Given the description of an element on the screen output the (x, y) to click on. 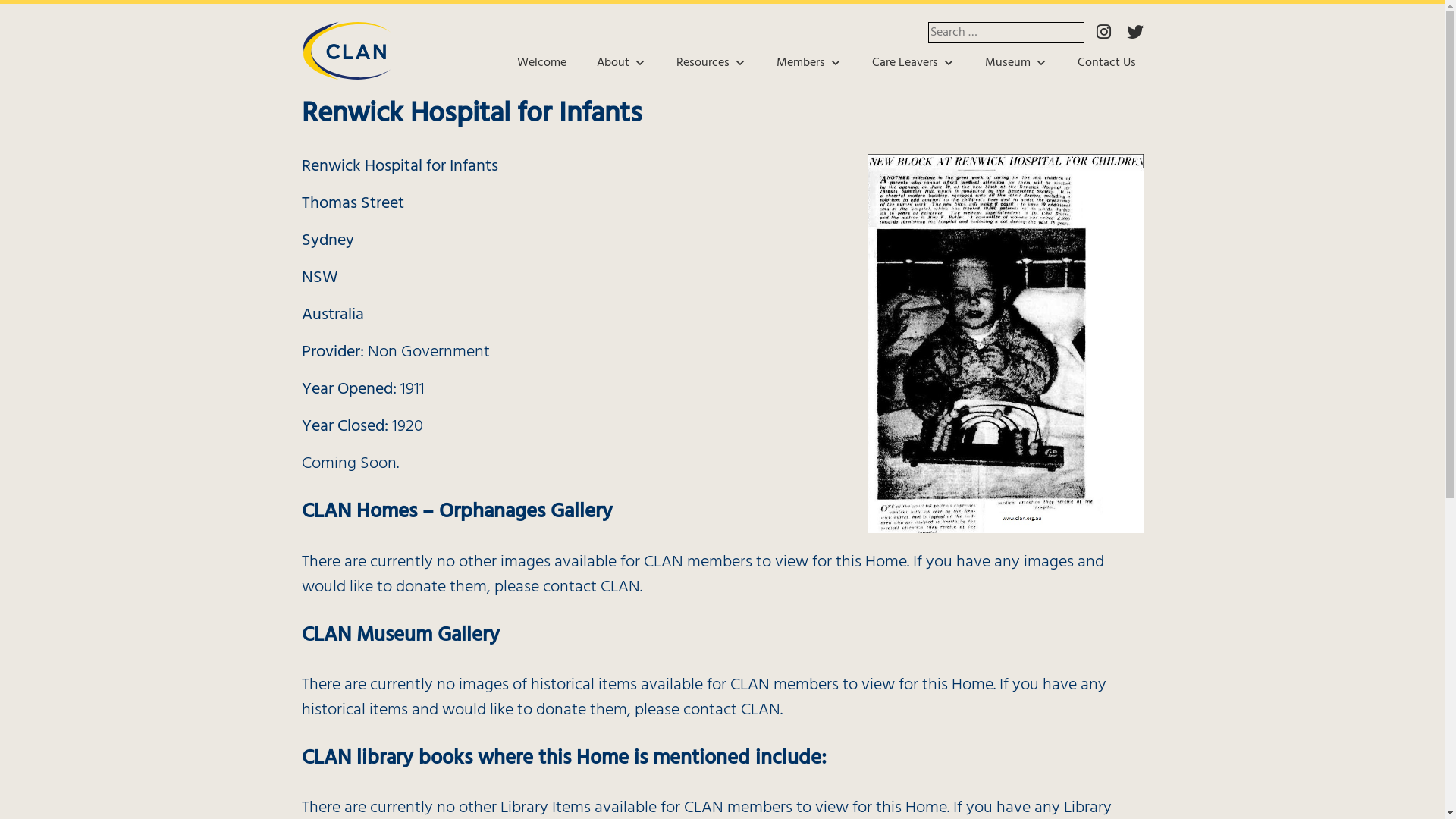
Resources Element type: text (710, 62)
Members Element type: text (808, 62)
Search for Element type: hover (1006, 32)
Museum Element type: text (1015, 62)
Care Leavers Element type: text (913, 62)
Contact Us Element type: text (1105, 62)
Welcome Element type: text (541, 62)
About Element type: text (620, 62)
